Given the description of an element on the screen output the (x, y) to click on. 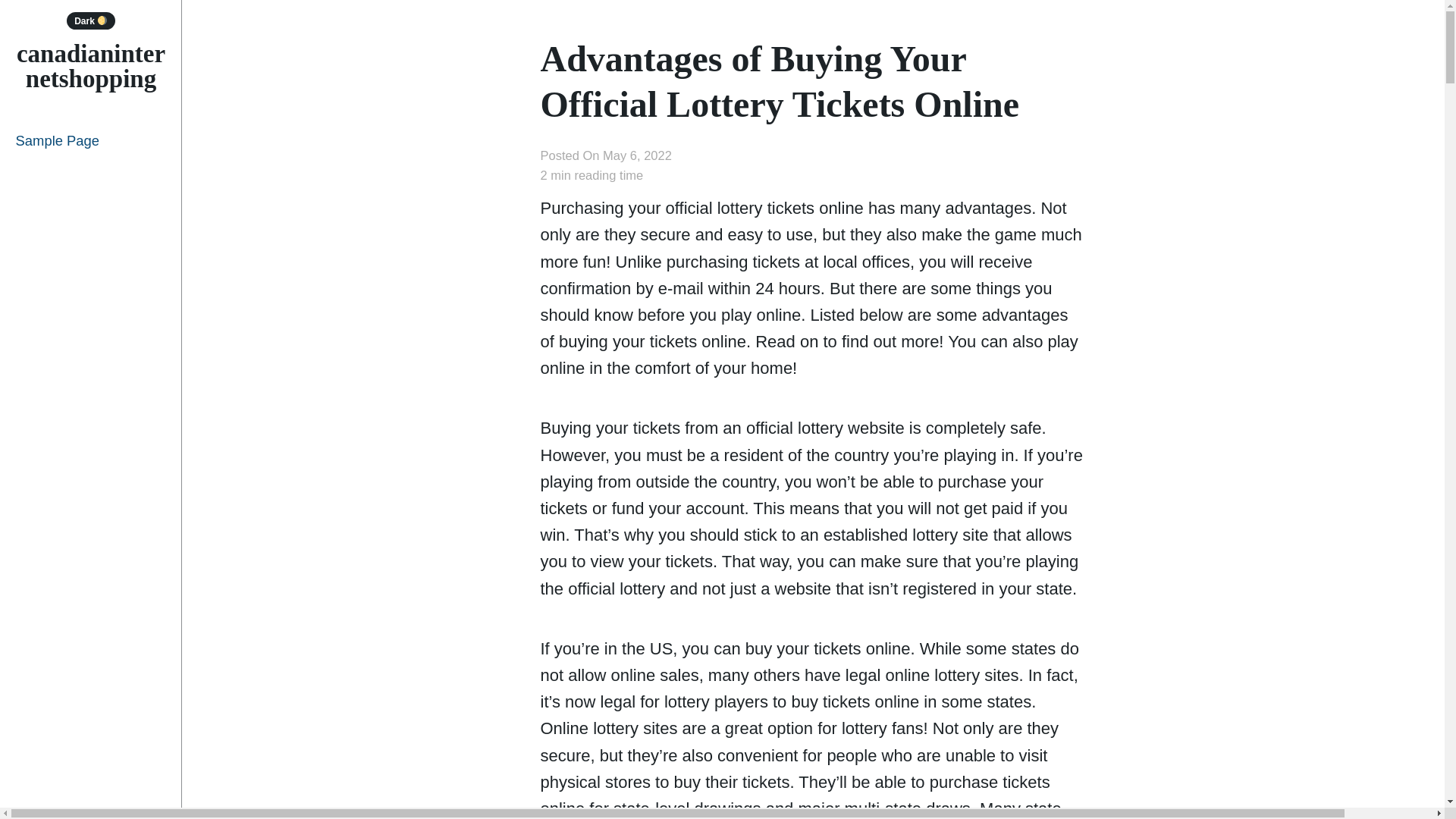
Sample Page (90, 140)
canadianinternetshopping (90, 66)
